Given the description of an element on the screen output the (x, y) to click on. 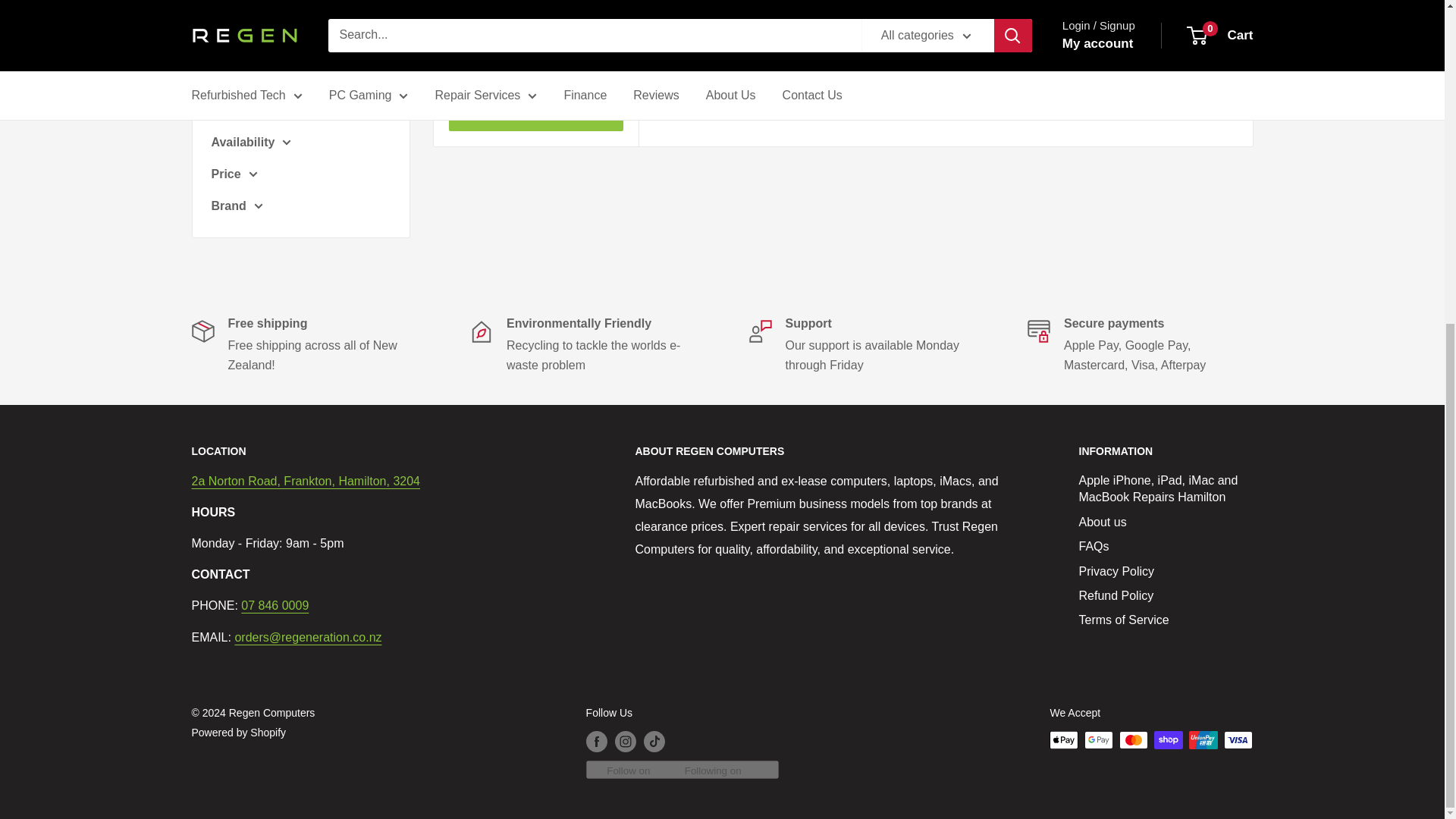
tel:07 846 0009 (274, 604)
